Given the description of an element on the screen output the (x, y) to click on. 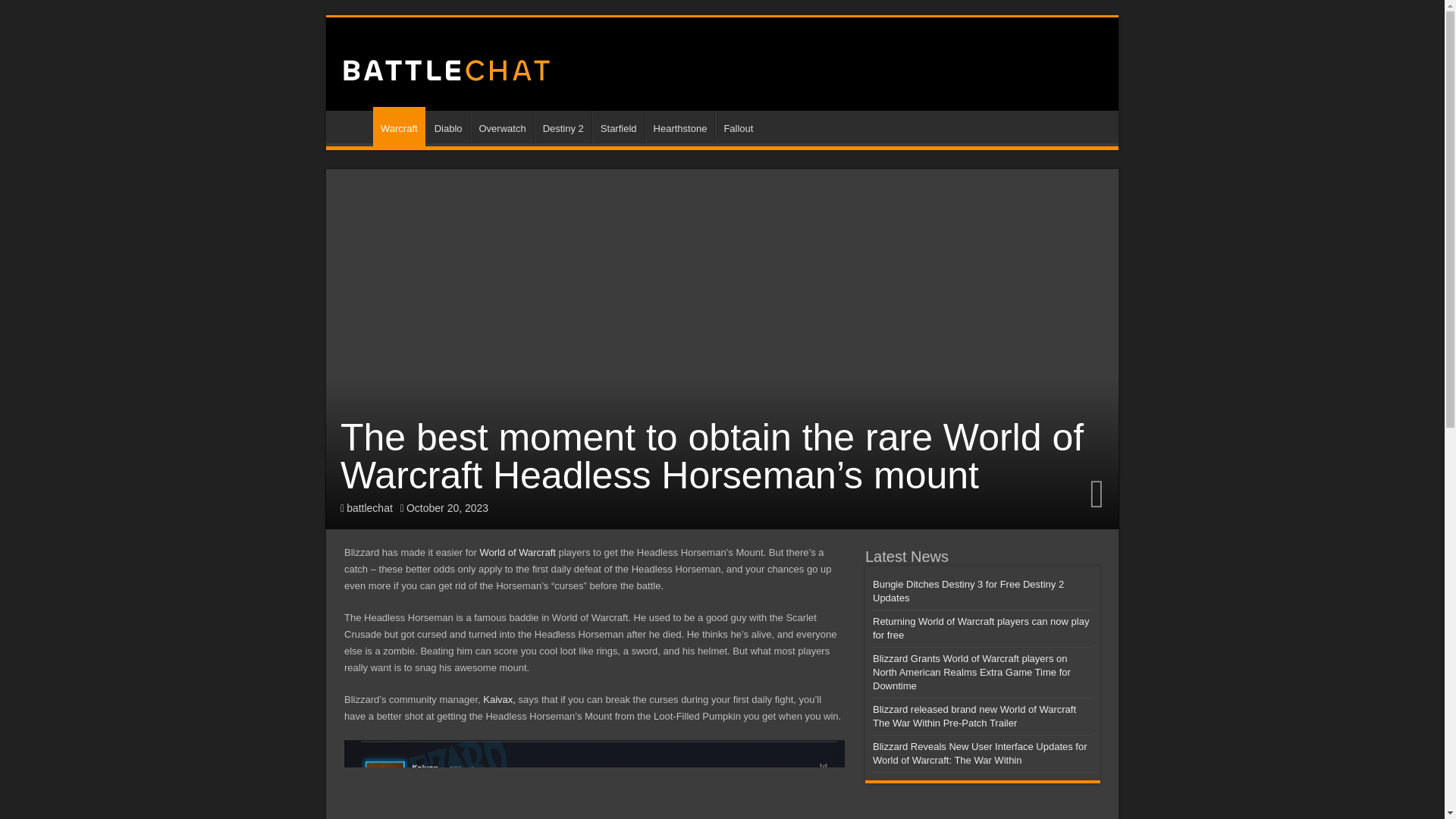
Starfield (618, 126)
Warcraft (398, 126)
Diablo (448, 126)
Hearthstone (679, 126)
Bungie Ditches Destiny 3 for Free Destiny 2 Updates (968, 590)
battlechat (369, 508)
Fallout (737, 126)
Destiny 2 (562, 126)
Returning World of Warcraft players can now play for free (980, 627)
Overwatch (501, 126)
Battlechat (445, 66)
World of Warcraft (516, 552)
